Given the description of an element on the screen output the (x, y) to click on. 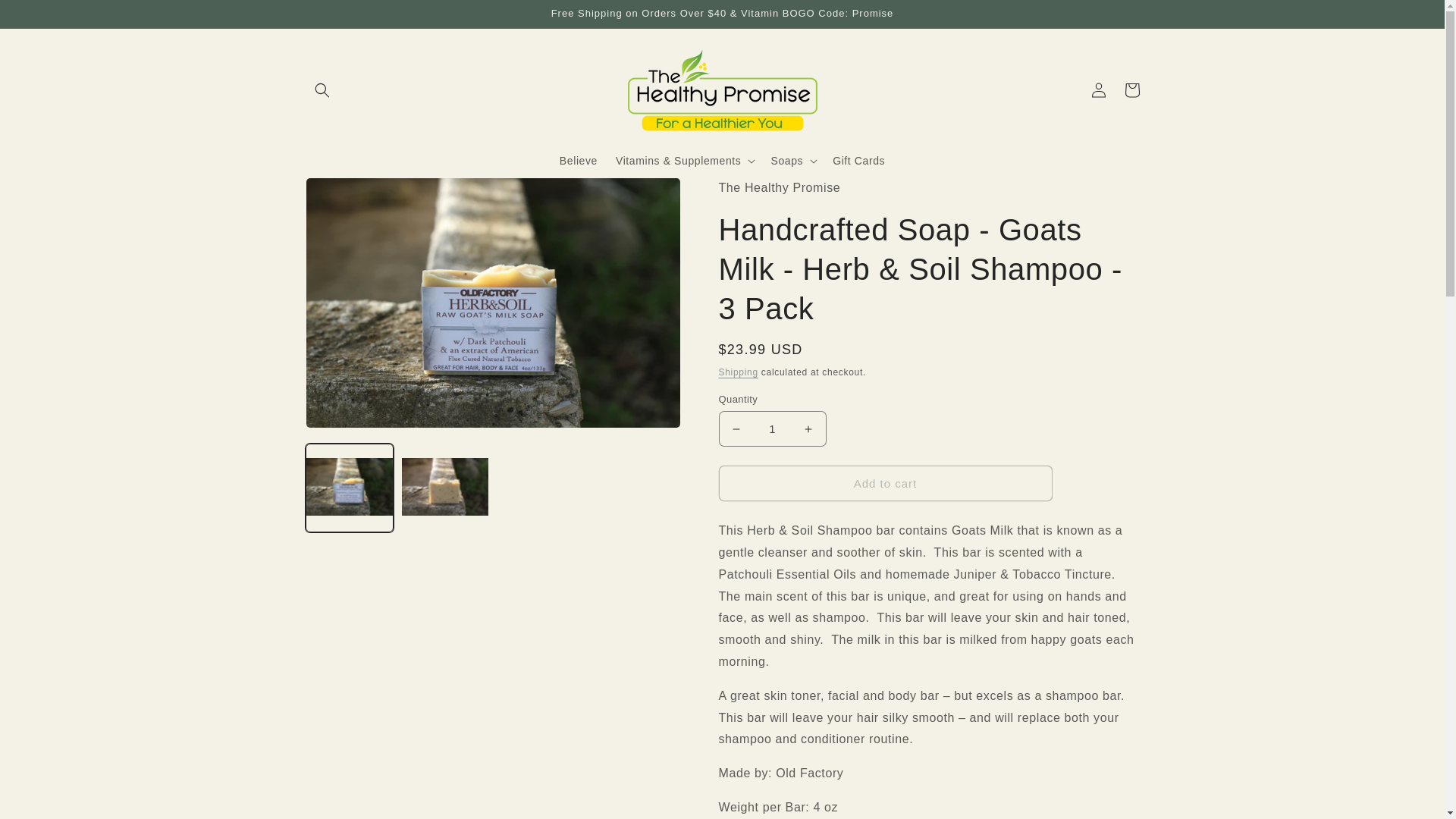
Gift Cards (858, 160)
Log in (1098, 90)
1 (773, 428)
Believe (578, 160)
Cart (1131, 90)
Skip to content (45, 17)
